Given the description of an element on the screen output the (x, y) to click on. 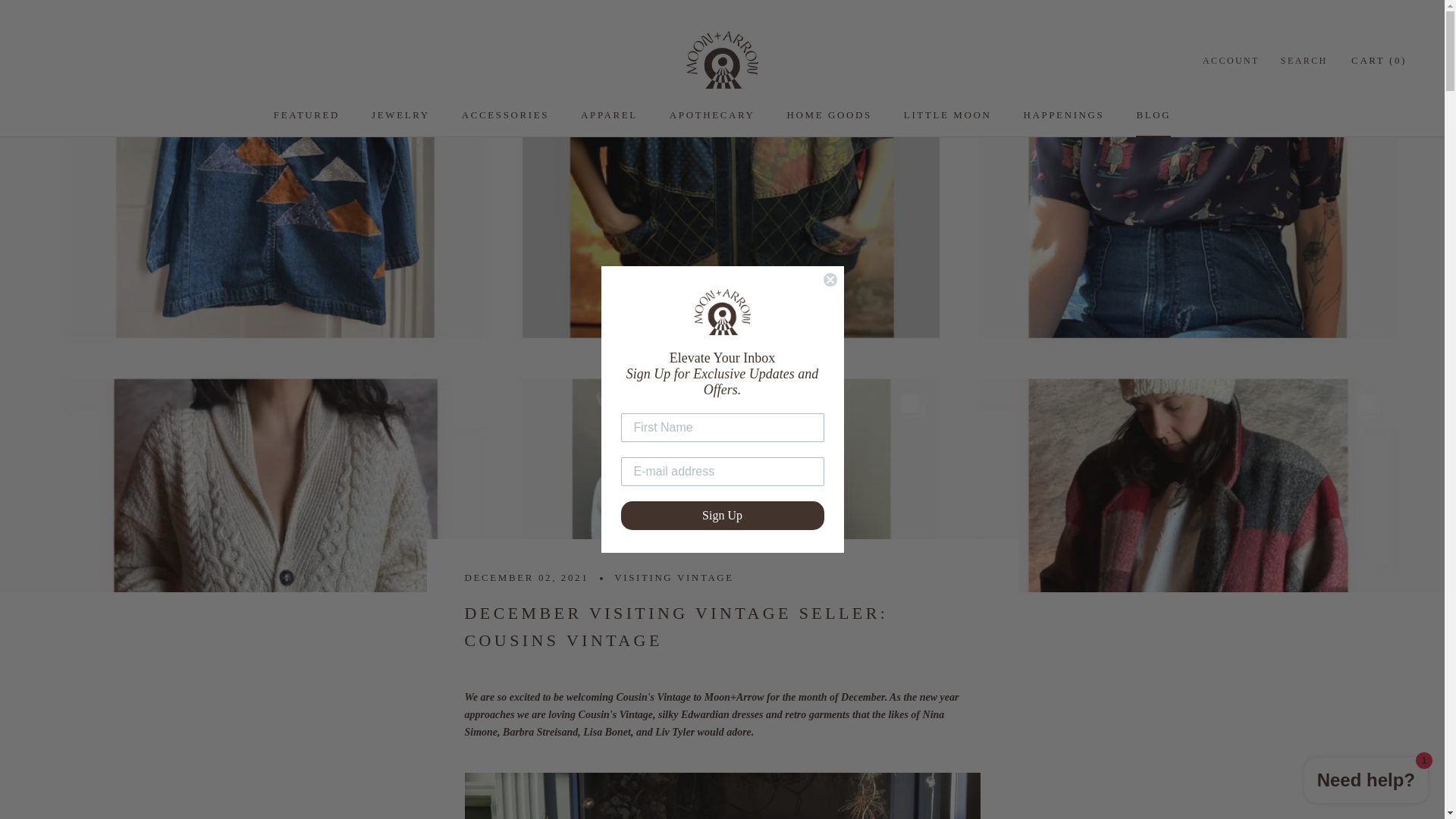
Shopify online store chat (1366, 781)
